Given the description of an element on the screen output the (x, y) to click on. 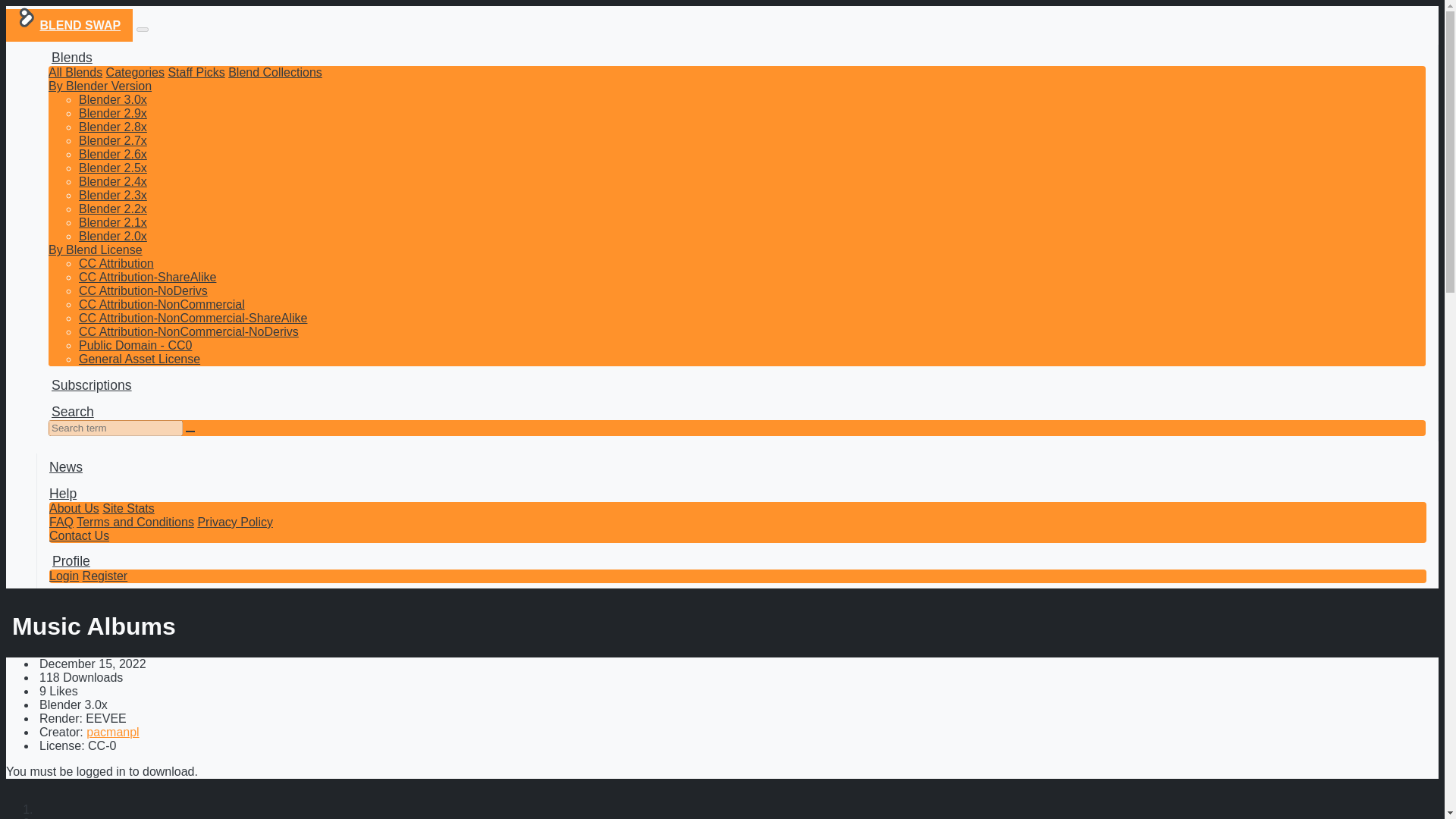
Blender 2.7x (112, 140)
Help (63, 493)
Blender 2.1x (112, 222)
By Blender Version (99, 85)
Blender 2.9x (112, 113)
CC Attribution (116, 263)
CC Attribution-NonCommercial-ShareAlike (192, 318)
Categories (135, 72)
Terms and Conditions (135, 521)
Blender 2.3x (112, 195)
CC Attribution-NonCommercial-NoDerivs (188, 331)
Blend Collections (274, 72)
CC Attribution-NonCommercial (161, 304)
Blends (70, 57)
BLEND SWAP (68, 25)
